Given the description of an element on the screen output the (x, y) to click on. 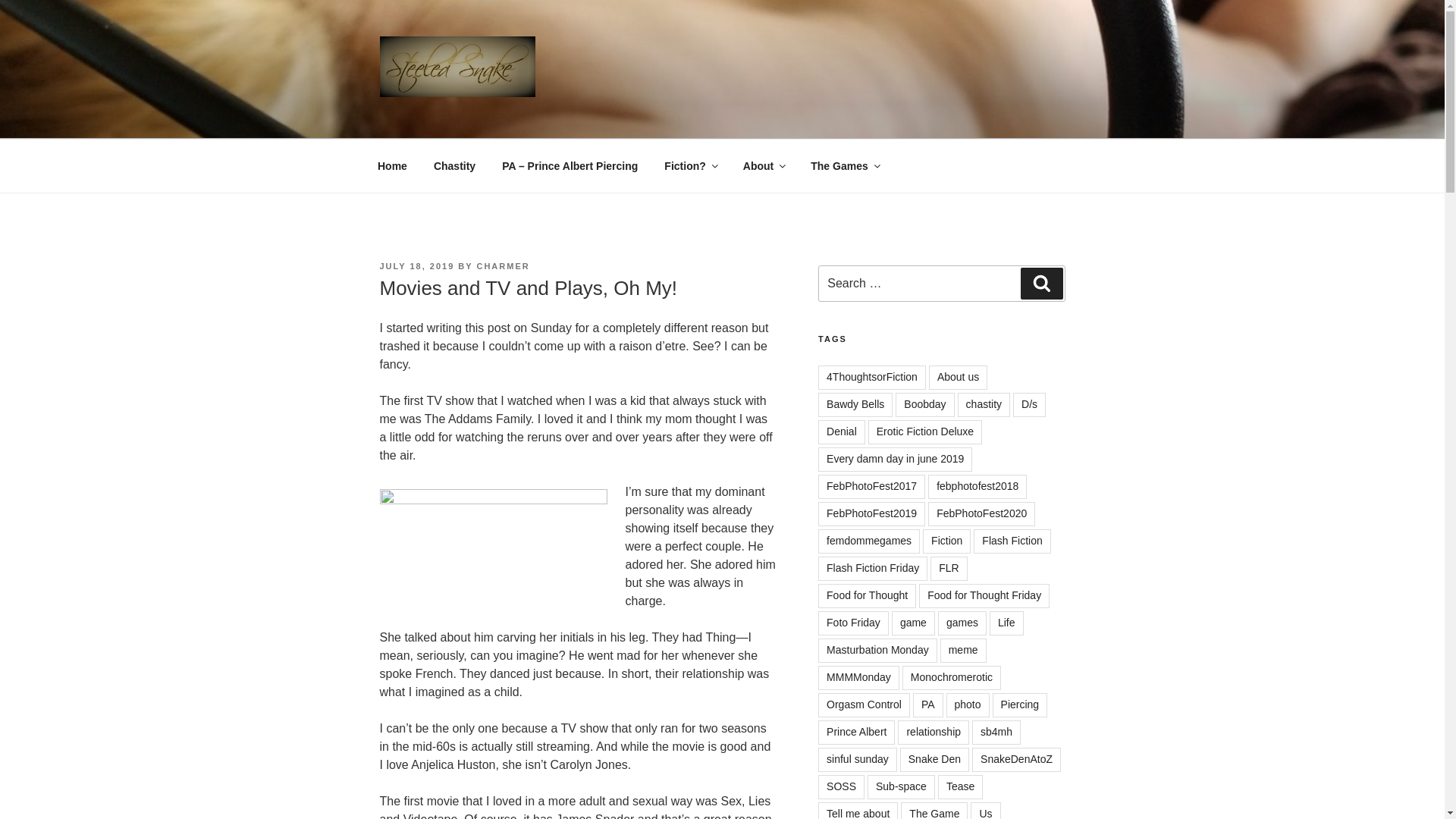
STEELED SNAKE (507, 119)
About (762, 165)
The Games (844, 165)
Chastity (453, 165)
Fiction? (689, 165)
Home (392, 165)
